Given the description of an element on the screen output the (x, y) to click on. 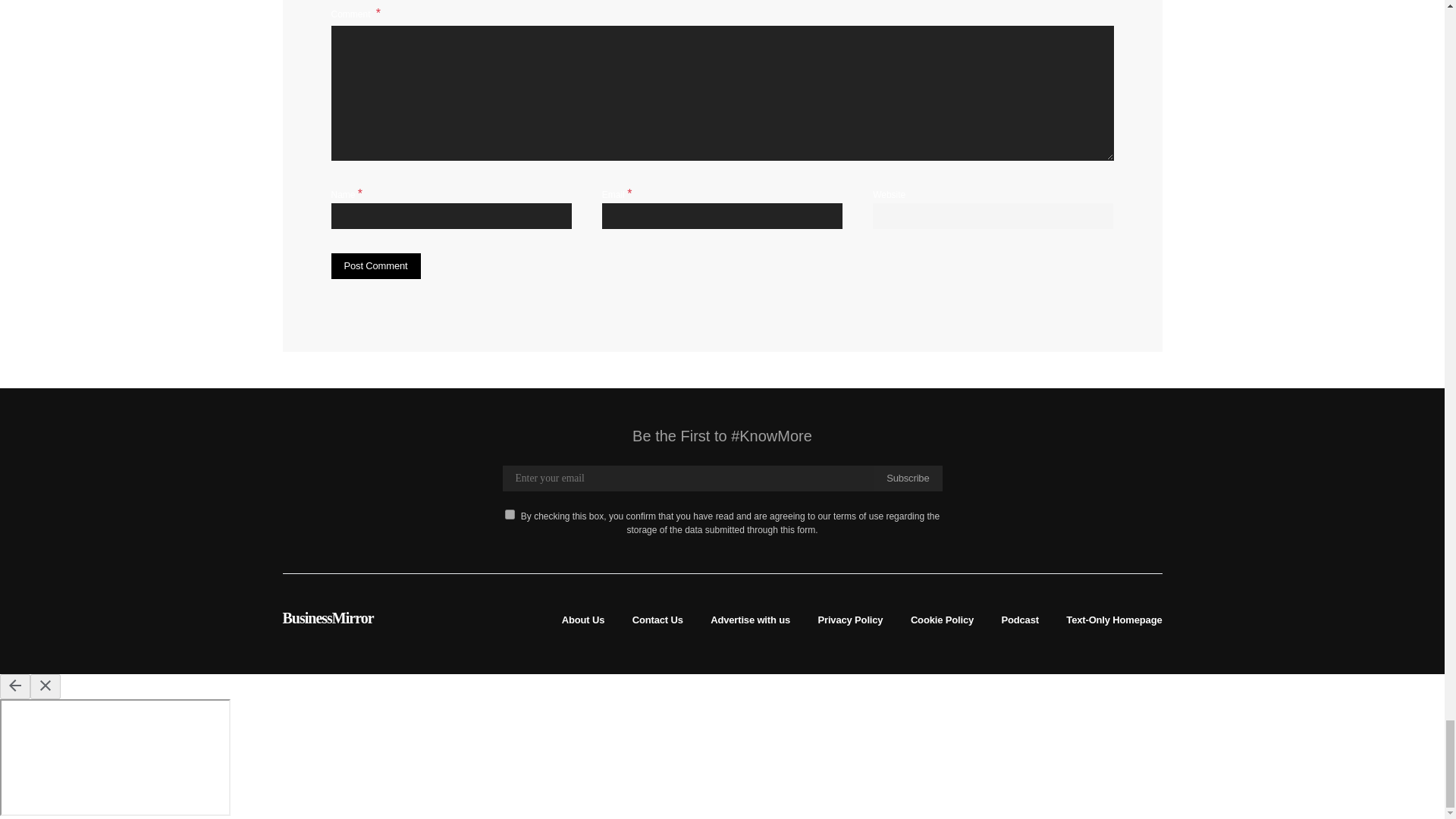
Post Comment (375, 266)
on (510, 514)
